Given the description of an element on the screen output the (x, y) to click on. 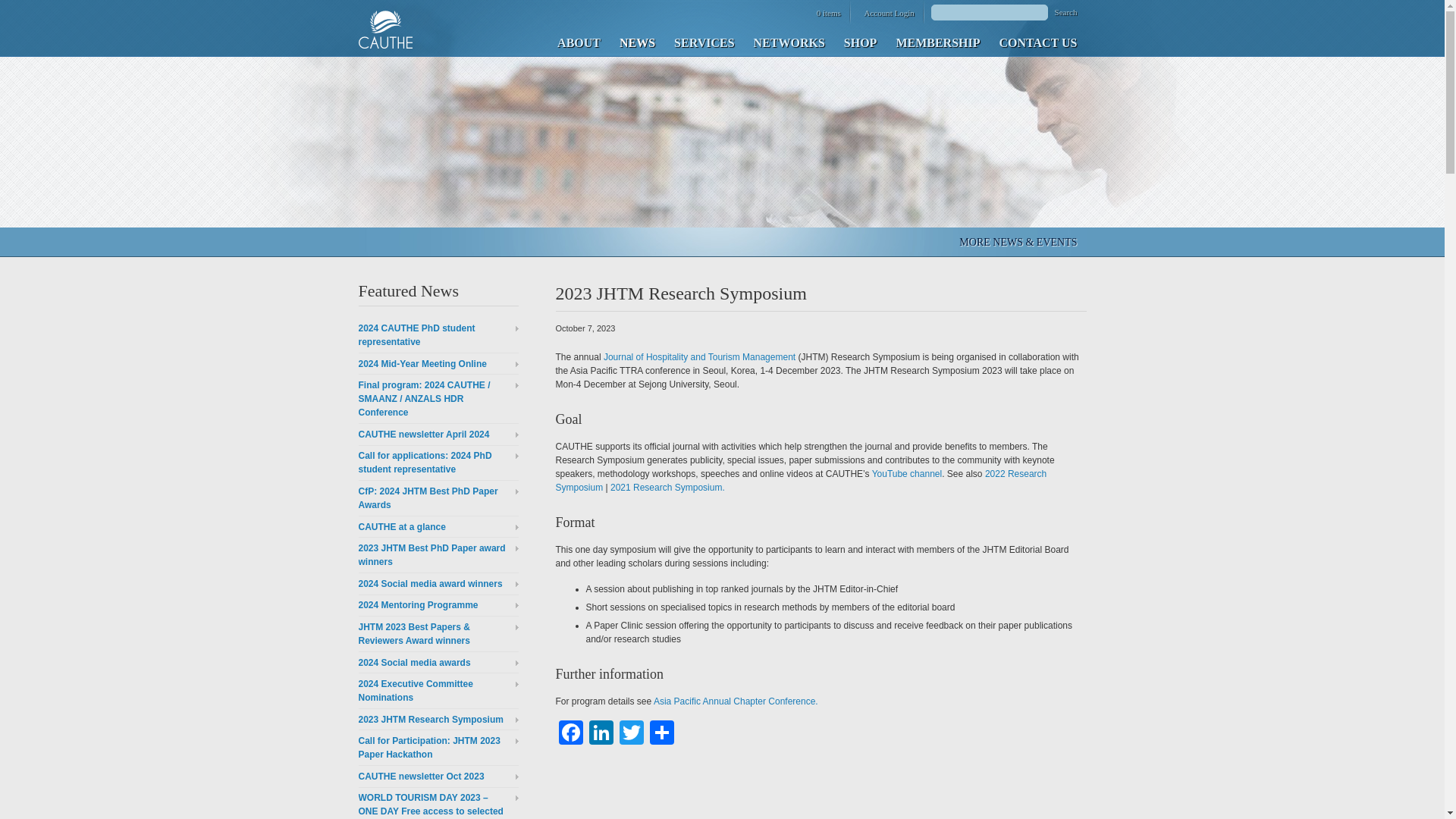
NEWS (636, 41)
Home (385, 28)
Search (1065, 11)
 Account Login (885, 12)
Search (1065, 11)
Facebook (569, 734)
LinkedIn (600, 734)
Search (1065, 11)
SERVICES (702, 41)
Account Login (885, 12)
Twitter (630, 734)
ABOUT (578, 41)
